Given the description of an element on the screen output the (x, y) to click on. 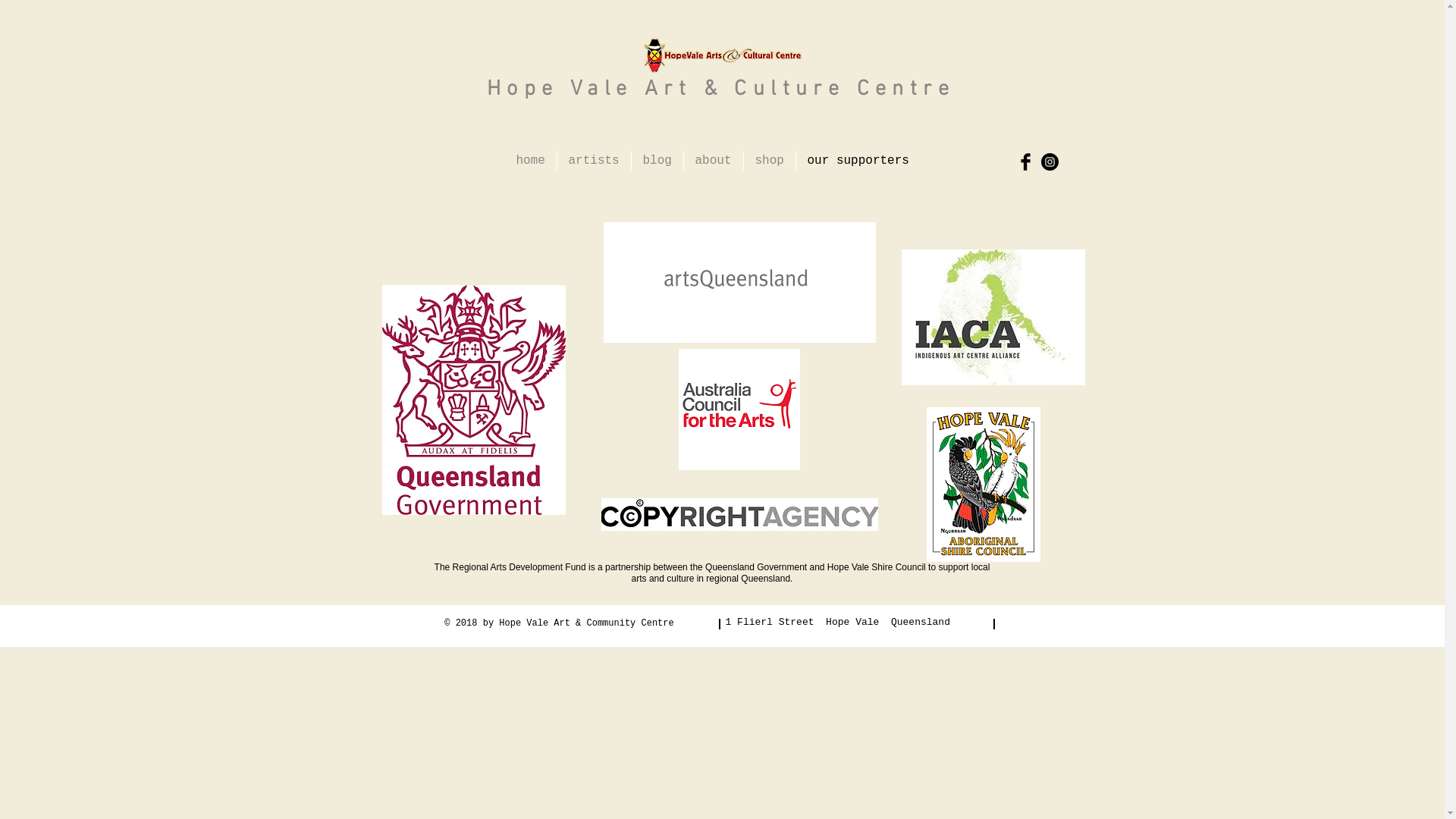
blog Element type: text (656, 160)
Hope Vale Art & Culture Centre Element type: text (720, 89)
home Element type: text (530, 160)
shop Element type: text (768, 160)
about Element type: text (713, 160)
our supporters Element type: text (858, 160)
artists Element type: text (593, 160)
